Given the description of an element on the screen output the (x, y) to click on. 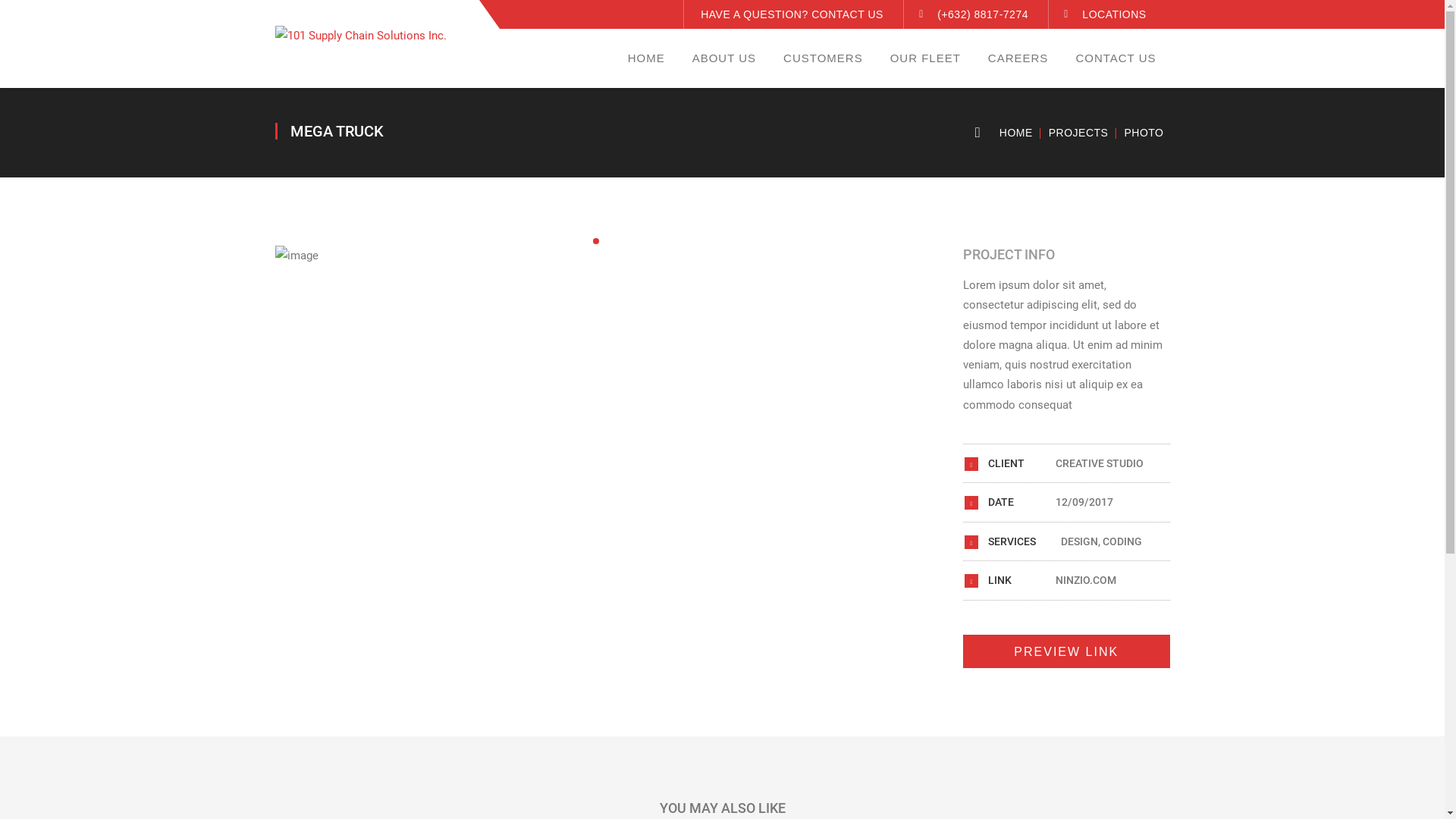
CONTACT US Element type: text (1115, 57)
CUSTOMERS Element type: text (823, 57)
PROJECTS Element type: text (1073, 132)
ABOUT US Element type: text (724, 57)
HAVE A QUESTION? CONTACT US Element type: text (791, 14)
PREVIEW LINK Element type: text (1066, 651)
HOME Element type: text (646, 57)
PHOTO Element type: text (1138, 132)
CAREERS Element type: text (1018, 57)
OUR FLEET Element type: text (925, 57)
HOME Element type: text (1015, 132)
101 Supply Chain Solutions Inc. Element type: hover (359, 34)
LOCATIONS Element type: text (1113, 14)
